Given the description of an element on the screen output the (x, y) to click on. 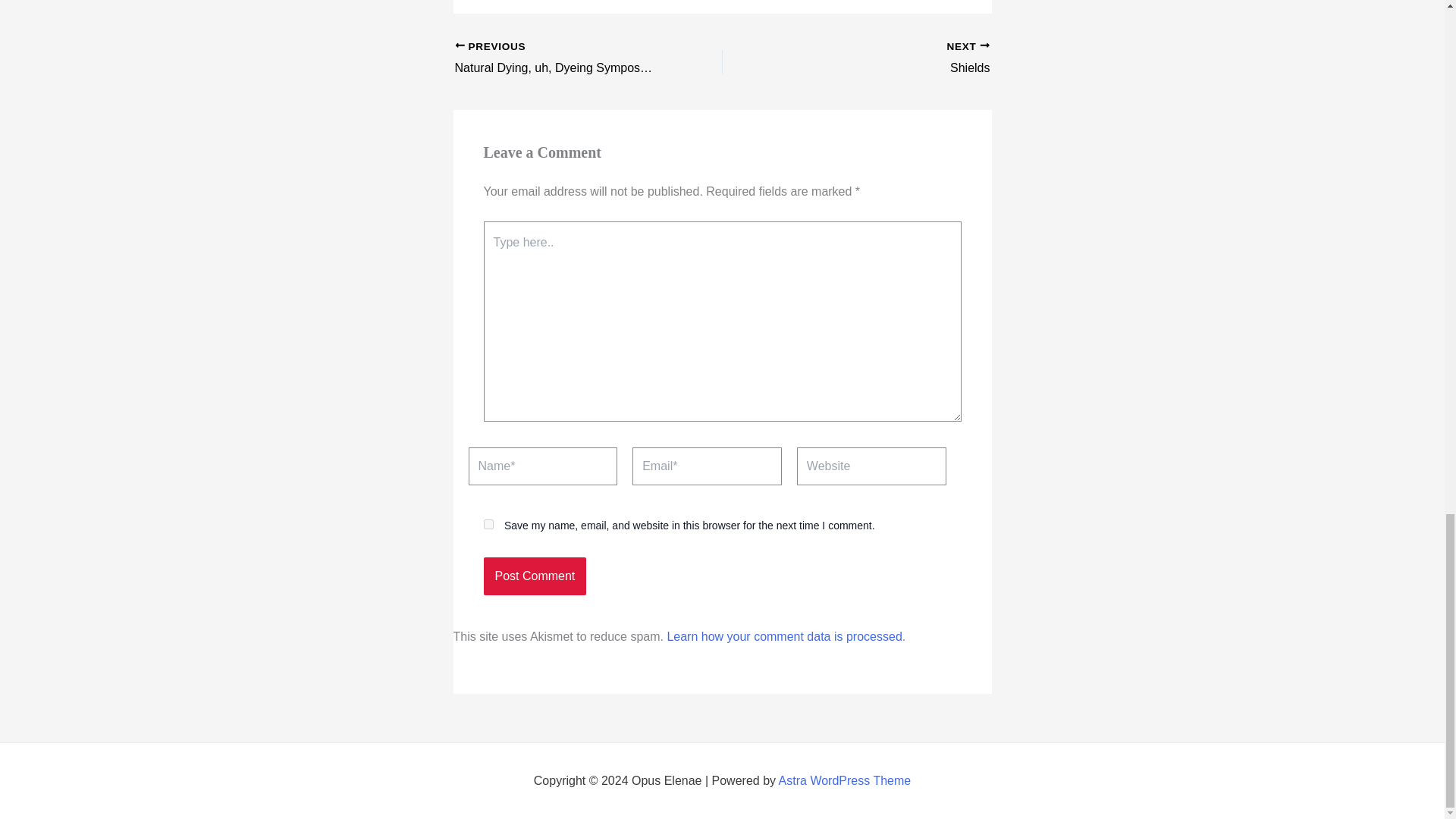
Shields (882, 58)
Natural Dying, uh, Dyeing Symposium (882, 58)
yes (561, 58)
Learn how your comment data is processed (488, 524)
Astra WordPress Theme (783, 635)
Post Comment (844, 780)
Post Comment (534, 576)
